Given the description of an element on the screen output the (x, y) to click on. 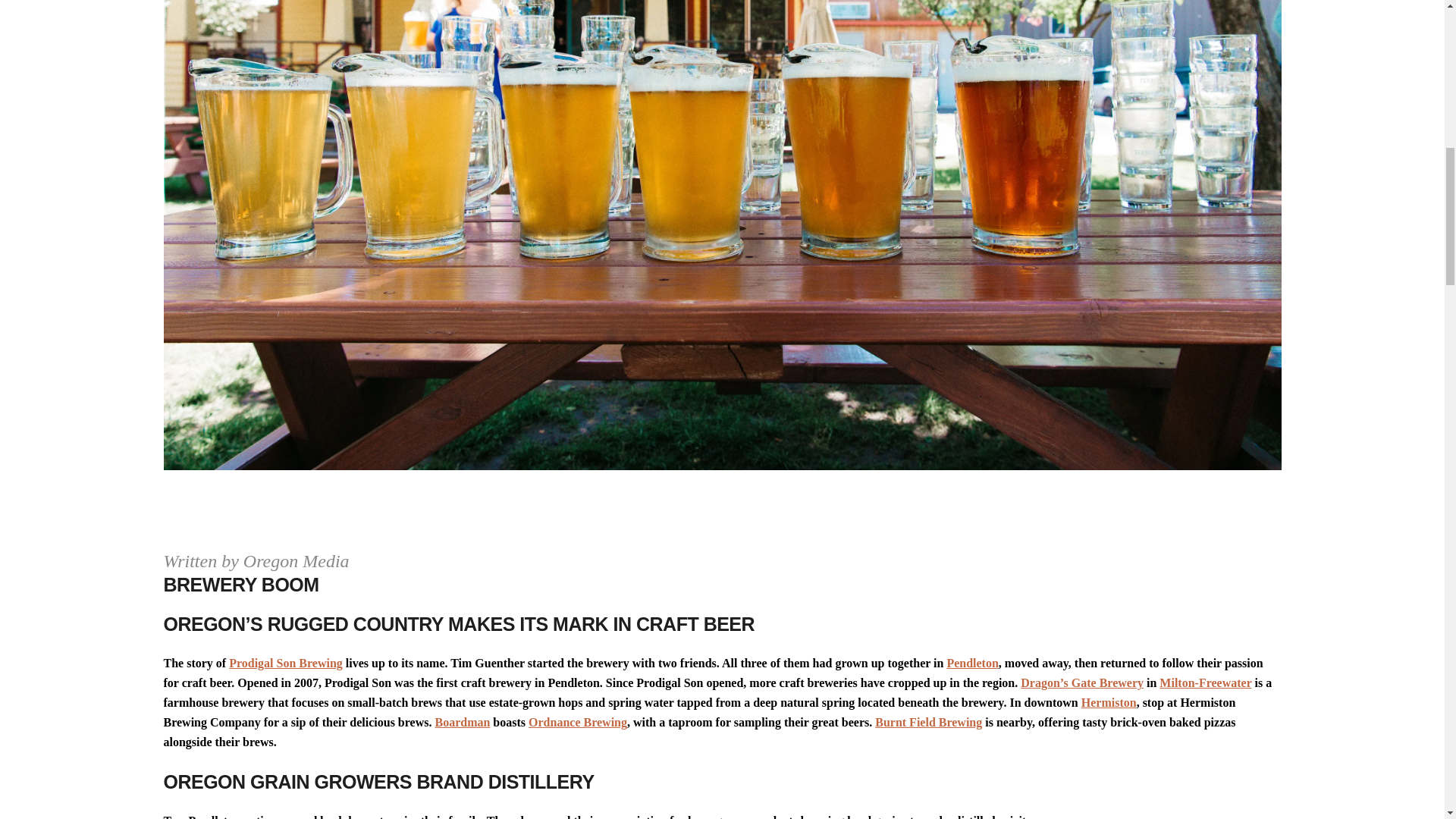
Pendleton (971, 662)
Prodigal Son Brewing (285, 662)
